Given the description of an element on the screen output the (x, y) to click on. 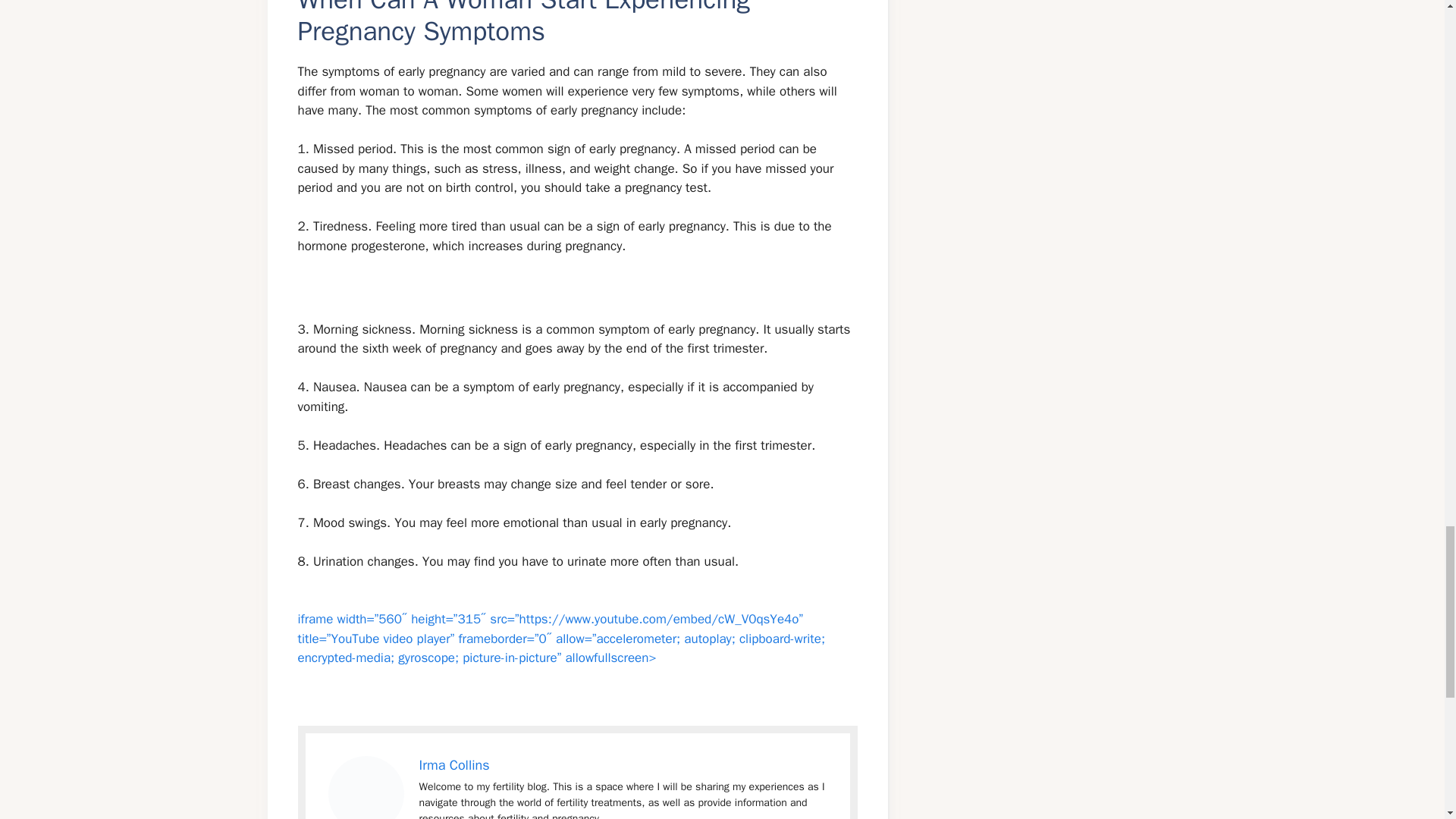
Irma Collins (454, 764)
Can A Menopause Test Detect Pregnancy (365, 787)
